Given the description of an element on the screen output the (x, y) to click on. 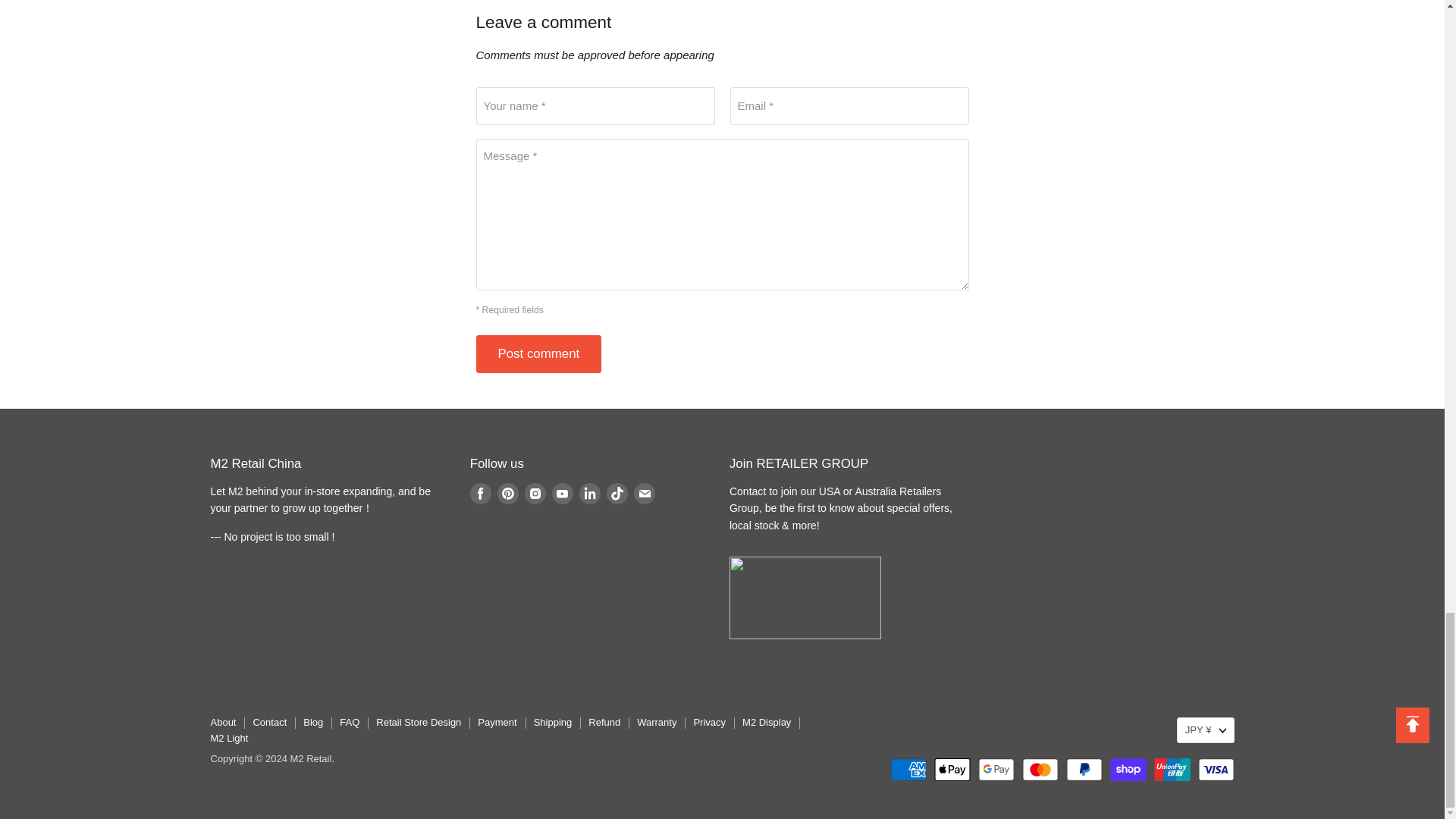
Facebook (481, 493)
LinkedIn (589, 493)
American Express (907, 769)
Email (644, 493)
Instagram (535, 493)
Google Pay (996, 769)
Apple Pay (952, 769)
Tiktok (617, 493)
Youtube (562, 493)
Pinterest (507, 493)
Mastercard (1040, 769)
